Given the description of an element on the screen output the (x, y) to click on. 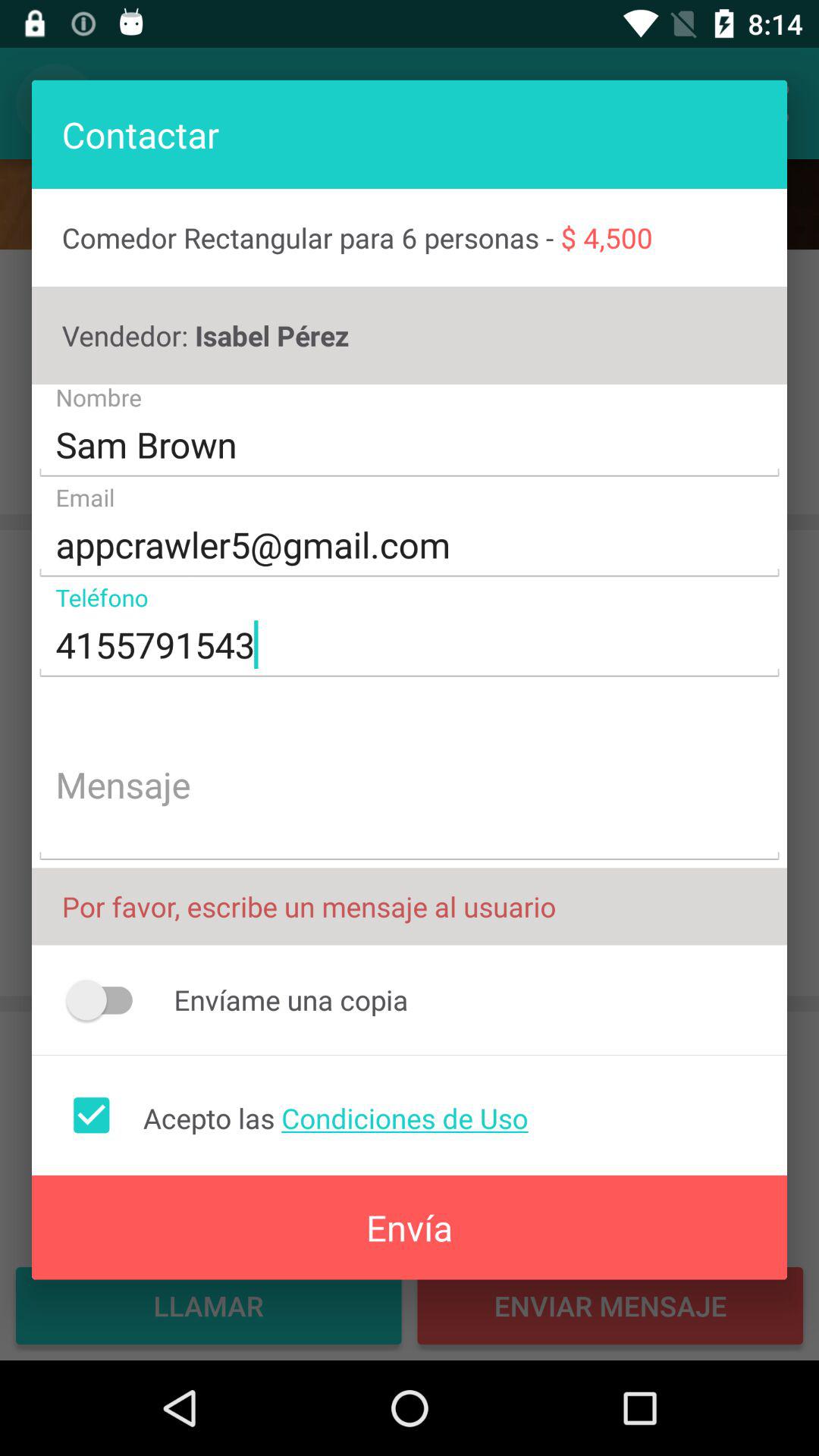
press the 4155791543 (409, 645)
